Given the description of an element on the screen output the (x, y) to click on. 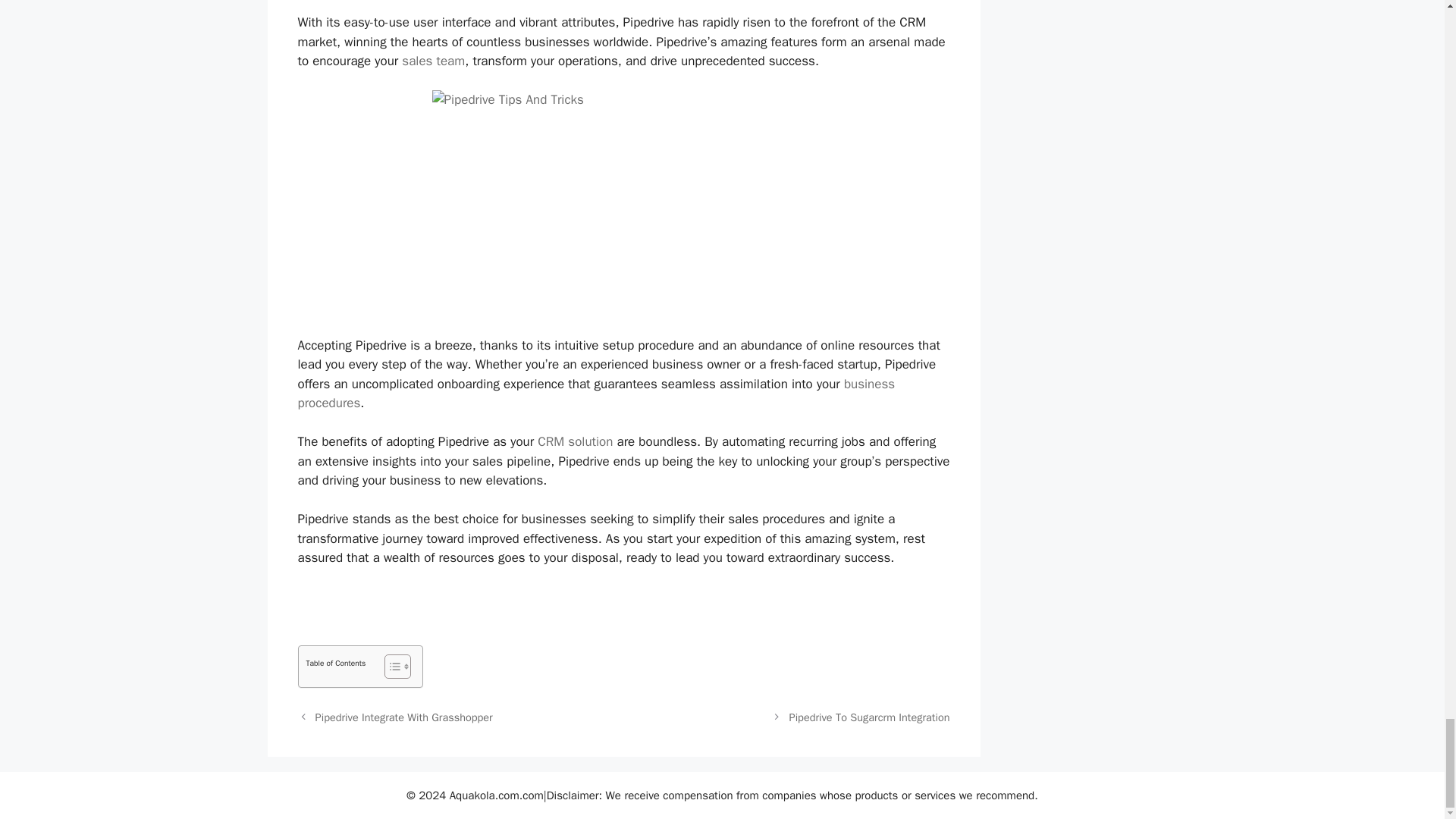
Pipedrive To Sugarcrm Integration (869, 716)
sales team (432, 60)
business procedures (596, 393)
CRM solution (574, 441)
Pipedrive Integrate With Grasshopper (404, 716)
